Given the description of an element on the screen output the (x, y) to click on. 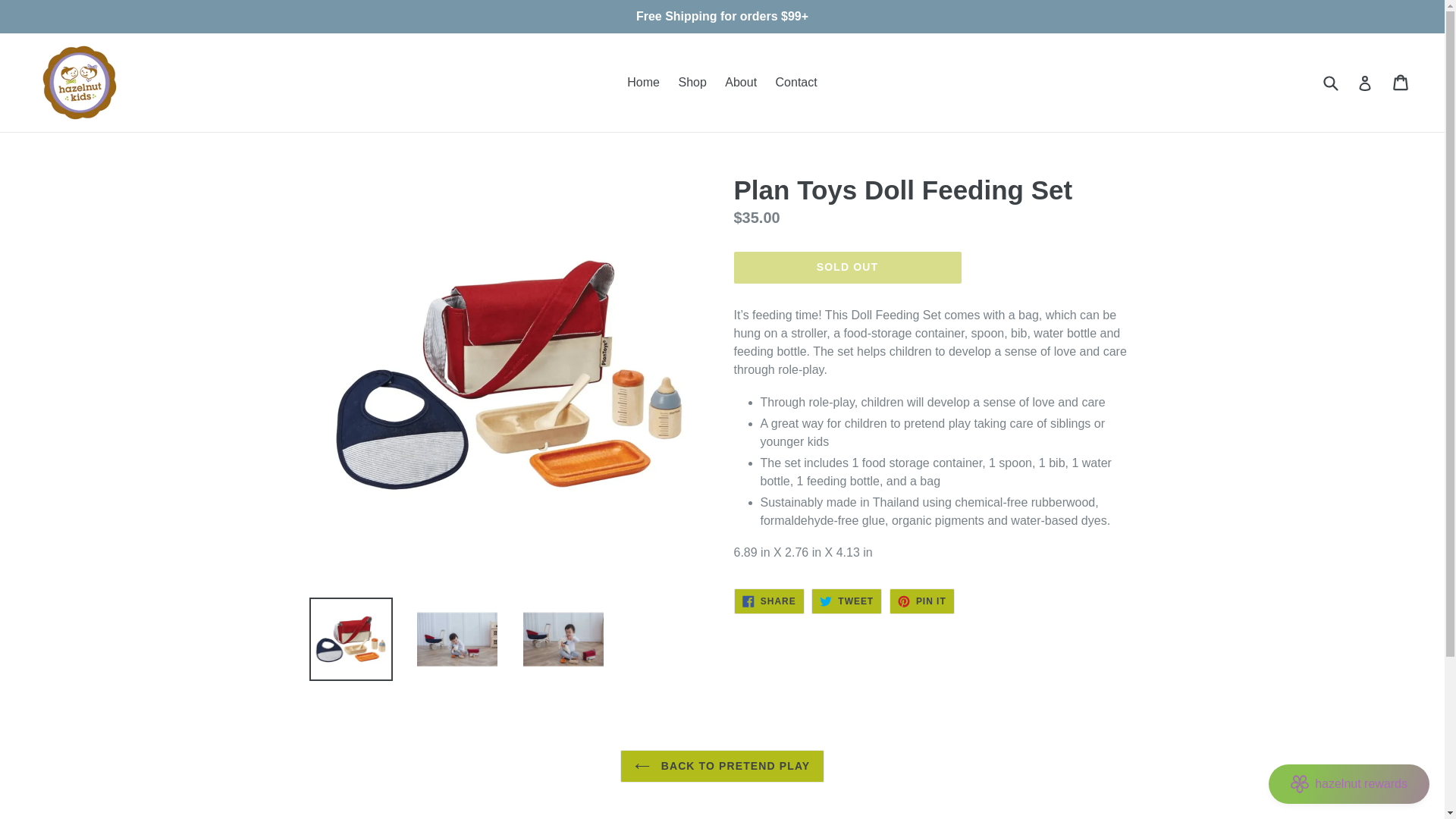
Shop (691, 82)
SOLD OUT (846, 267)
Pin on Pinterest (922, 601)
About (740, 82)
Home (643, 82)
BACK TO PRETEND PLAY (722, 765)
hazelnut rewards (846, 601)
Tweet on Twitter (1348, 783)
Contact (846, 601)
Share on Facebook (796, 82)
